Given the description of an element on the screen output the (x, y) to click on. 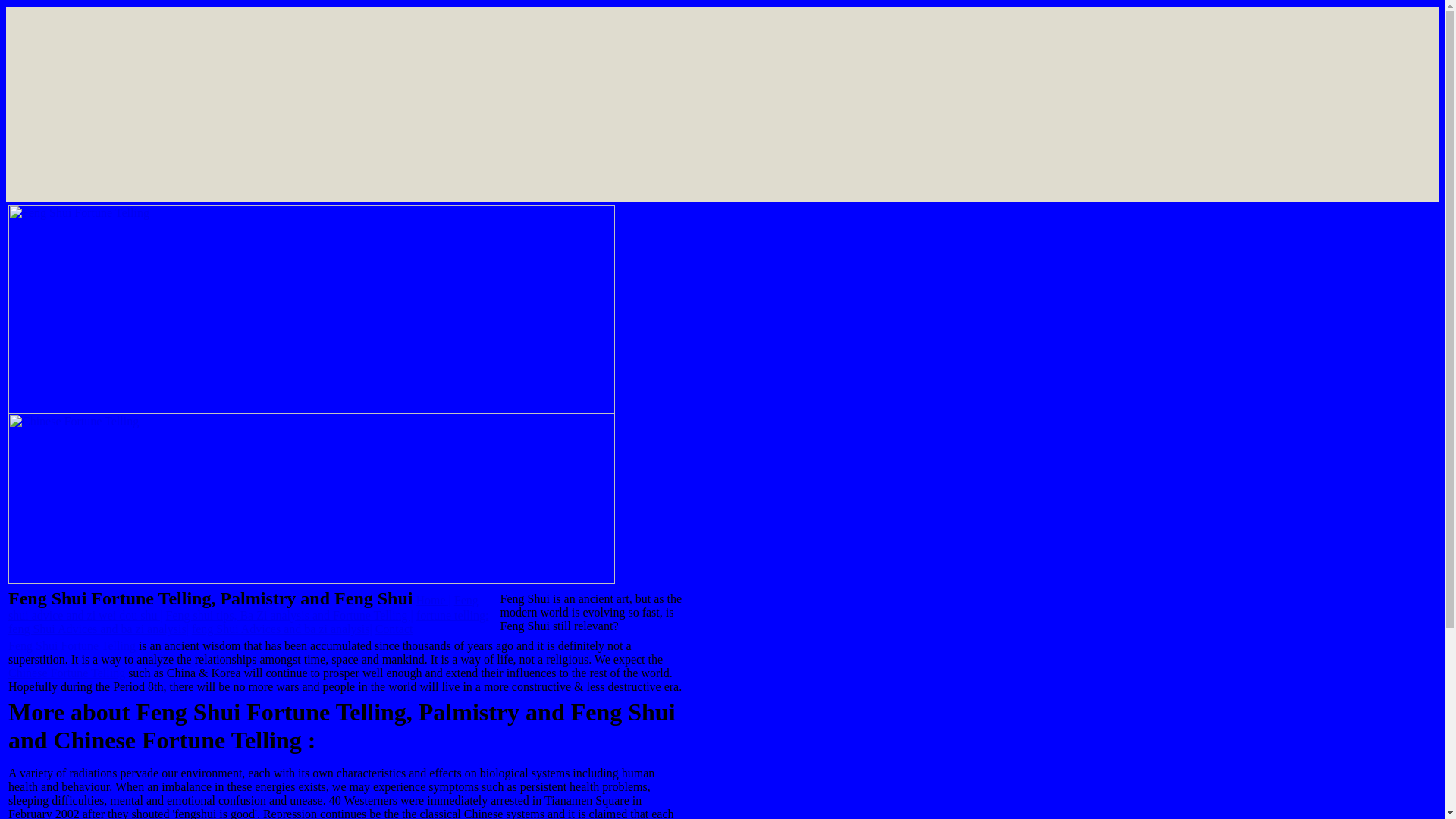
Feng Shui Fortune Telling (71, 645)
Chinese Fortune Telling (66, 672)
Contact (394, 628)
